Given the description of an element on the screen output the (x, y) to click on. 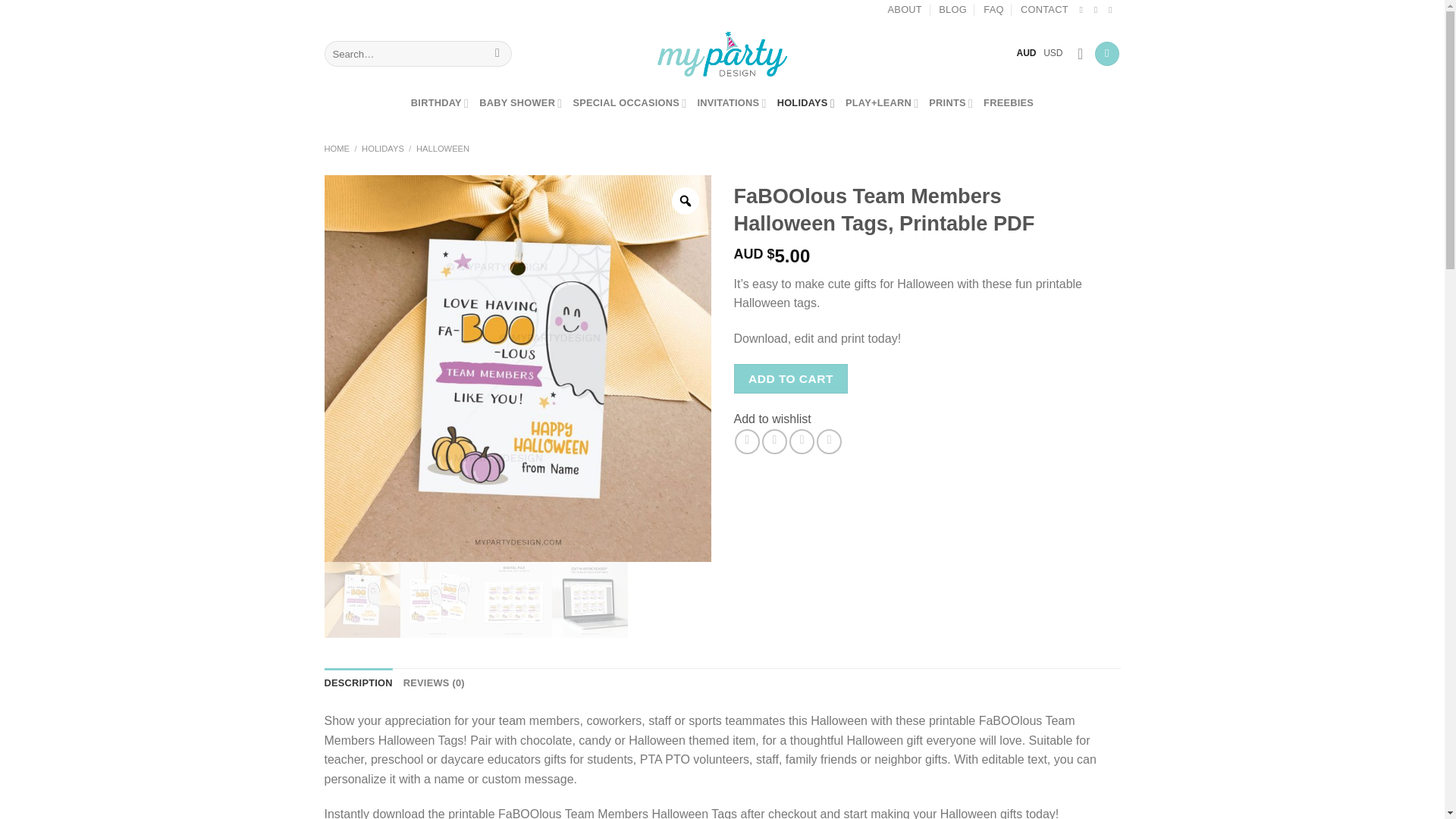
AUD (1026, 52)
ABOUT (904, 9)
SPECIAL OCCASIONS (628, 102)
Search (497, 53)
CONTACT (1044, 9)
USD (1052, 52)
Cart (1106, 53)
BLOG (952, 9)
